Given the description of an element on the screen output the (x, y) to click on. 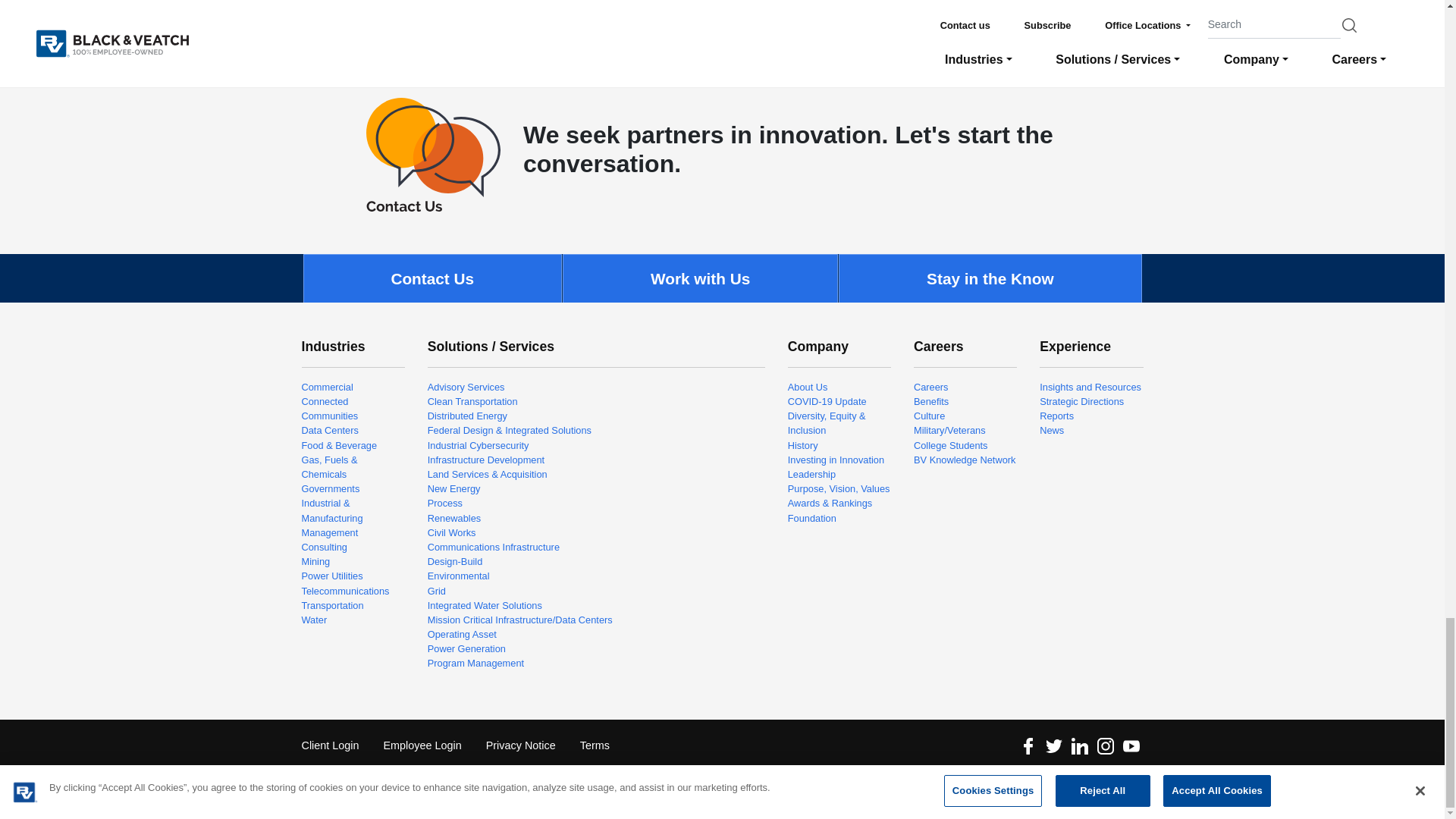
Contact Us (433, 154)
